Given the description of an element on the screen output the (x, y) to click on. 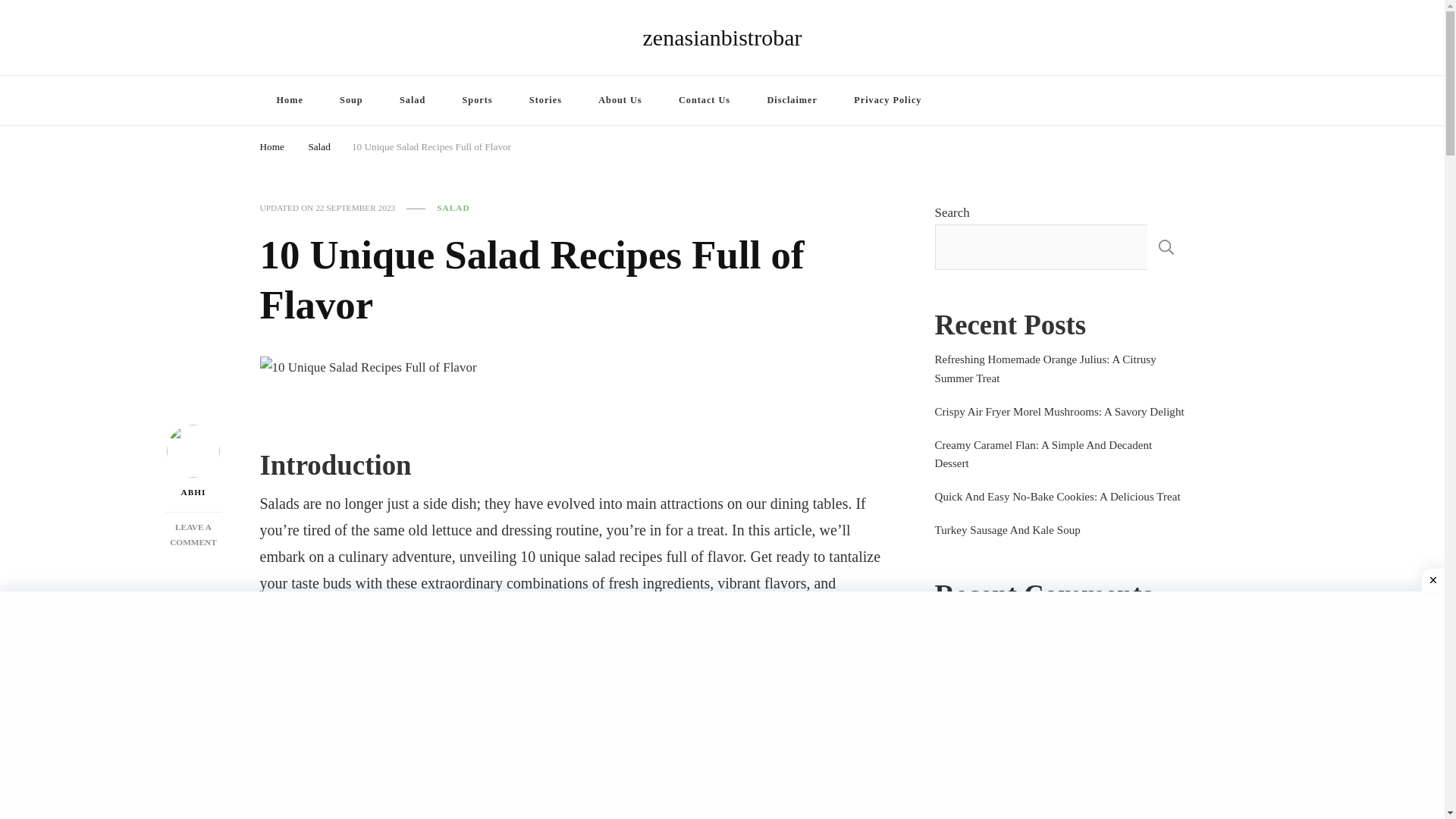
Salad (318, 144)
Search (1148, 102)
Salad (412, 100)
Home (288, 100)
Privacy Policy (193, 534)
Contact Us (887, 100)
SALAD (704, 100)
zenasianbistrobar (452, 207)
Disclaimer (722, 37)
10 Unique Salad Recipes Full of Flavor (791, 100)
Soup (431, 144)
Sports (351, 100)
Home (477, 100)
Stories (271, 144)
